Given the description of an element on the screen output the (x, y) to click on. 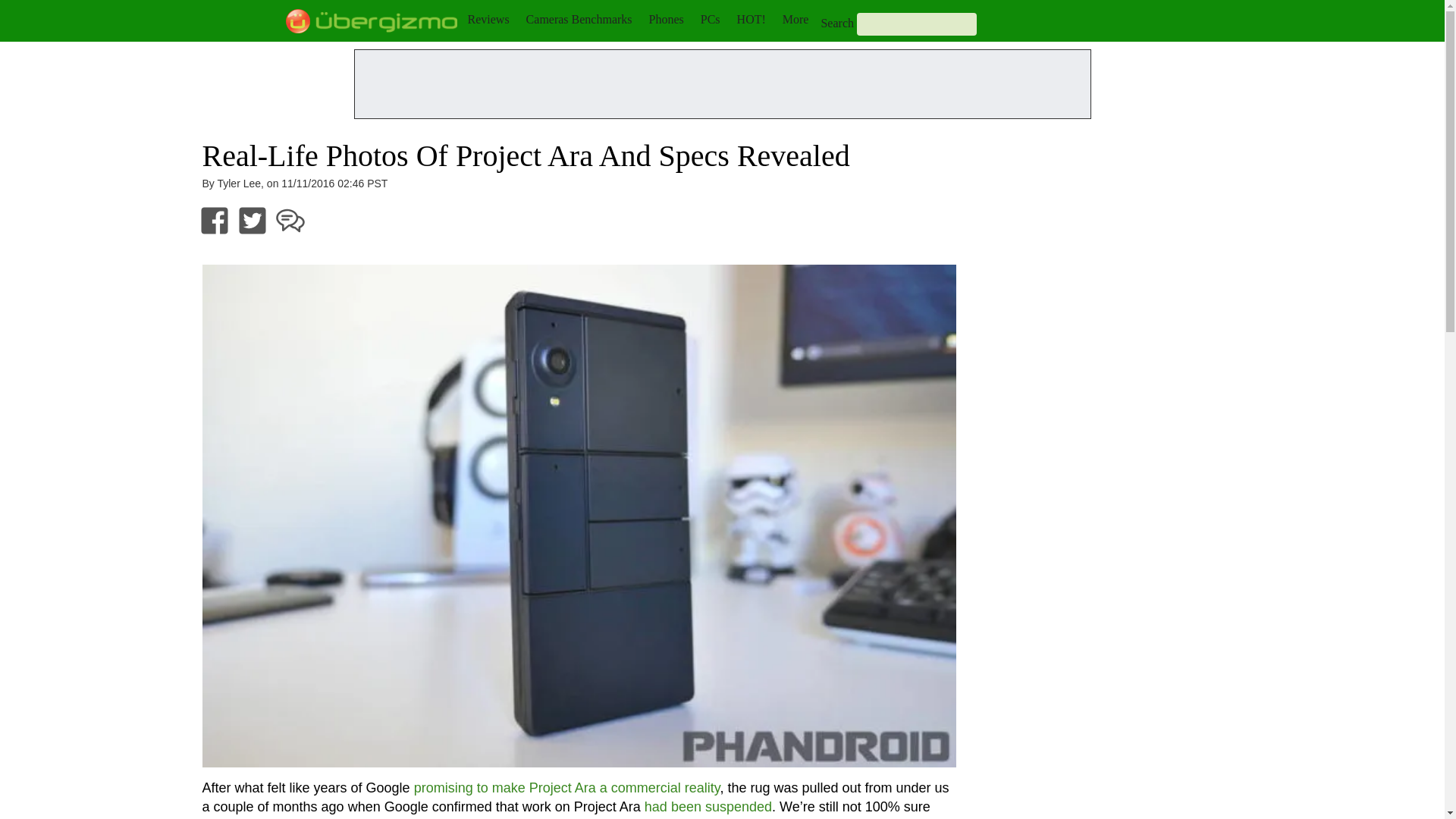
PCs (710, 19)
Cameras Benchmarks (578, 19)
Phones (666, 19)
Reviews (487, 19)
